Given the description of an element on the screen output the (x, y) to click on. 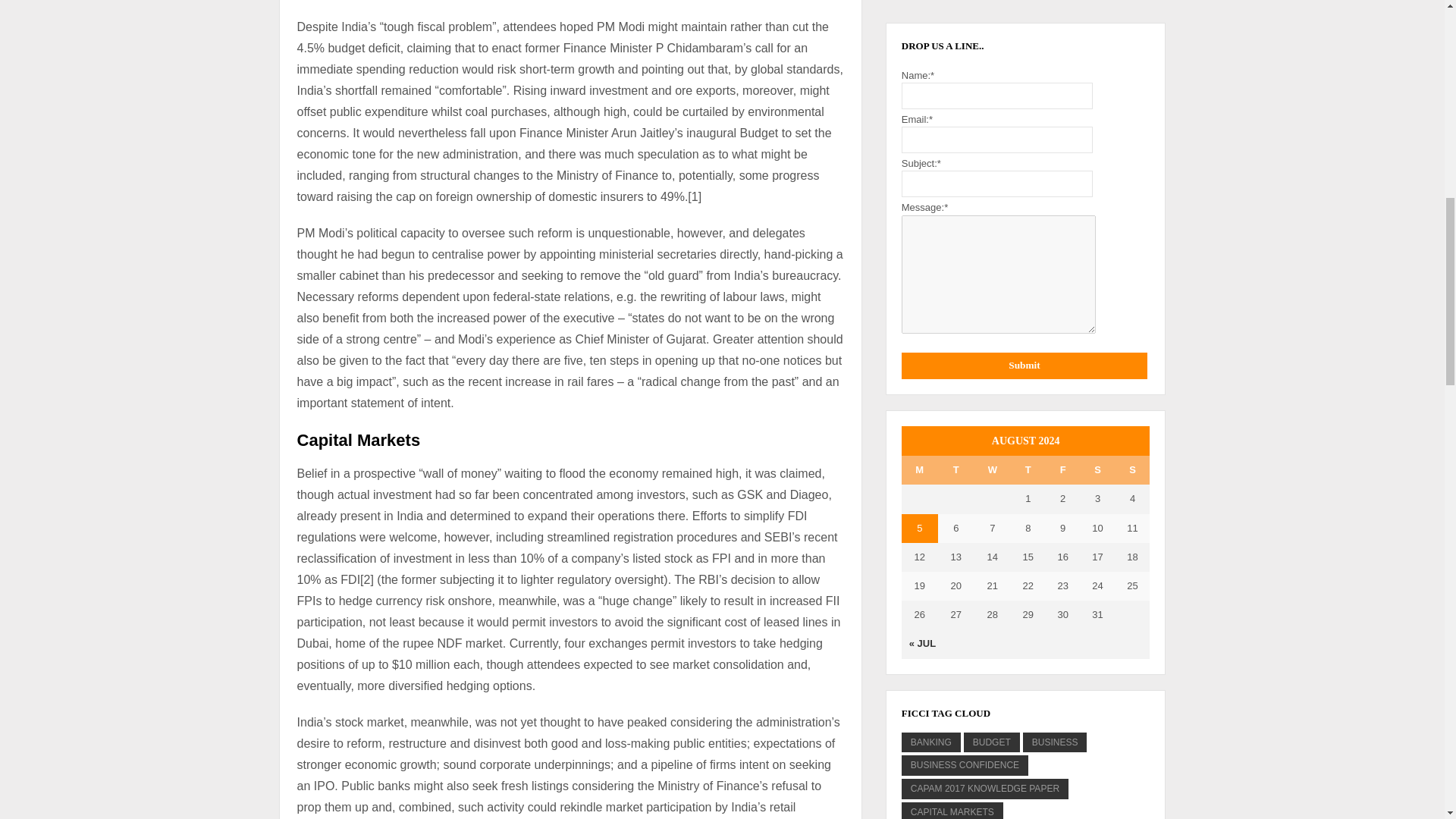
Thursday (1027, 469)
Tuesday (955, 469)
Monday (919, 469)
Wednesday (992, 469)
Submit (1024, 365)
Friday (1062, 469)
